Given the description of an element on the screen output the (x, y) to click on. 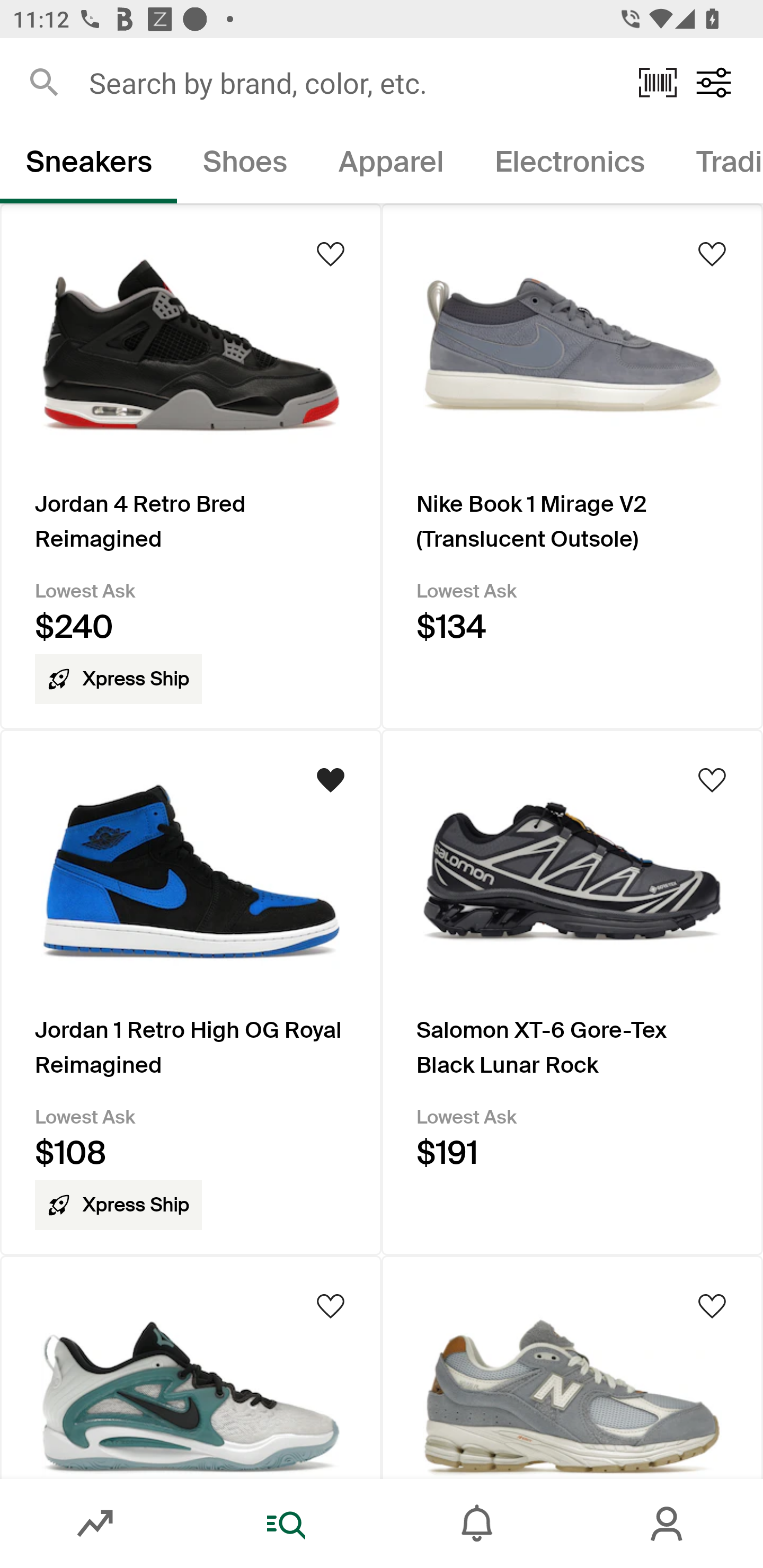
Search by brand, color, etc. (351, 82)
Shoes (244, 165)
Apparel (390, 165)
Electronics (569, 165)
Product Image (190, 1366)
Product Image (572, 1366)
Market (95, 1523)
Inbox (476, 1523)
Account (667, 1523)
